Given the description of an element on the screen output the (x, y) to click on. 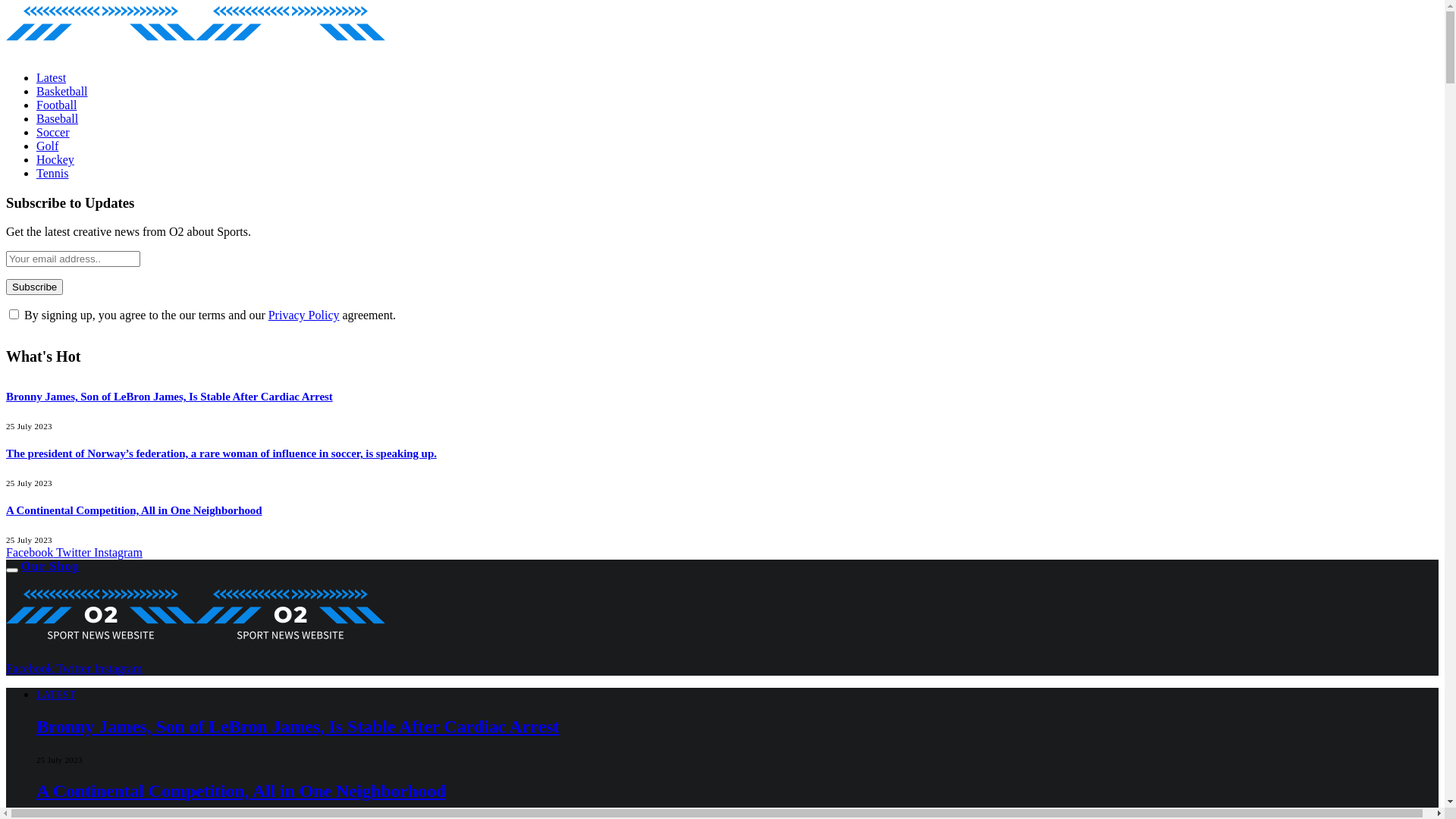
Our Shop Element type: text (50, 565)
Twitter Element type: text (75, 552)
Hockey Element type: text (55, 159)
Baseball Element type: text (57, 118)
Football Element type: text (56, 104)
Basketball Element type: text (61, 90)
LATEST Element type: text (55, 694)
Soccer Element type: text (52, 131)
A Continental Competition, All in One Neighborhood Element type: text (134, 510)
Instagram Element type: text (118, 552)
Facebook Element type: text (31, 668)
A Continental Competition, All in One Neighborhood Element type: text (240, 790)
Facebook Element type: text (31, 552)
Latest Element type: text (50, 77)
Twitter Element type: text (75, 668)
O2 Element type: hover (722, 617)
Tennis Element type: text (52, 172)
Privacy Policy Element type: text (303, 314)
Instagram Element type: text (118, 668)
Subscribe Element type: text (34, 286)
Golf Element type: text (47, 145)
